Given the description of an element on the screen output the (x, y) to click on. 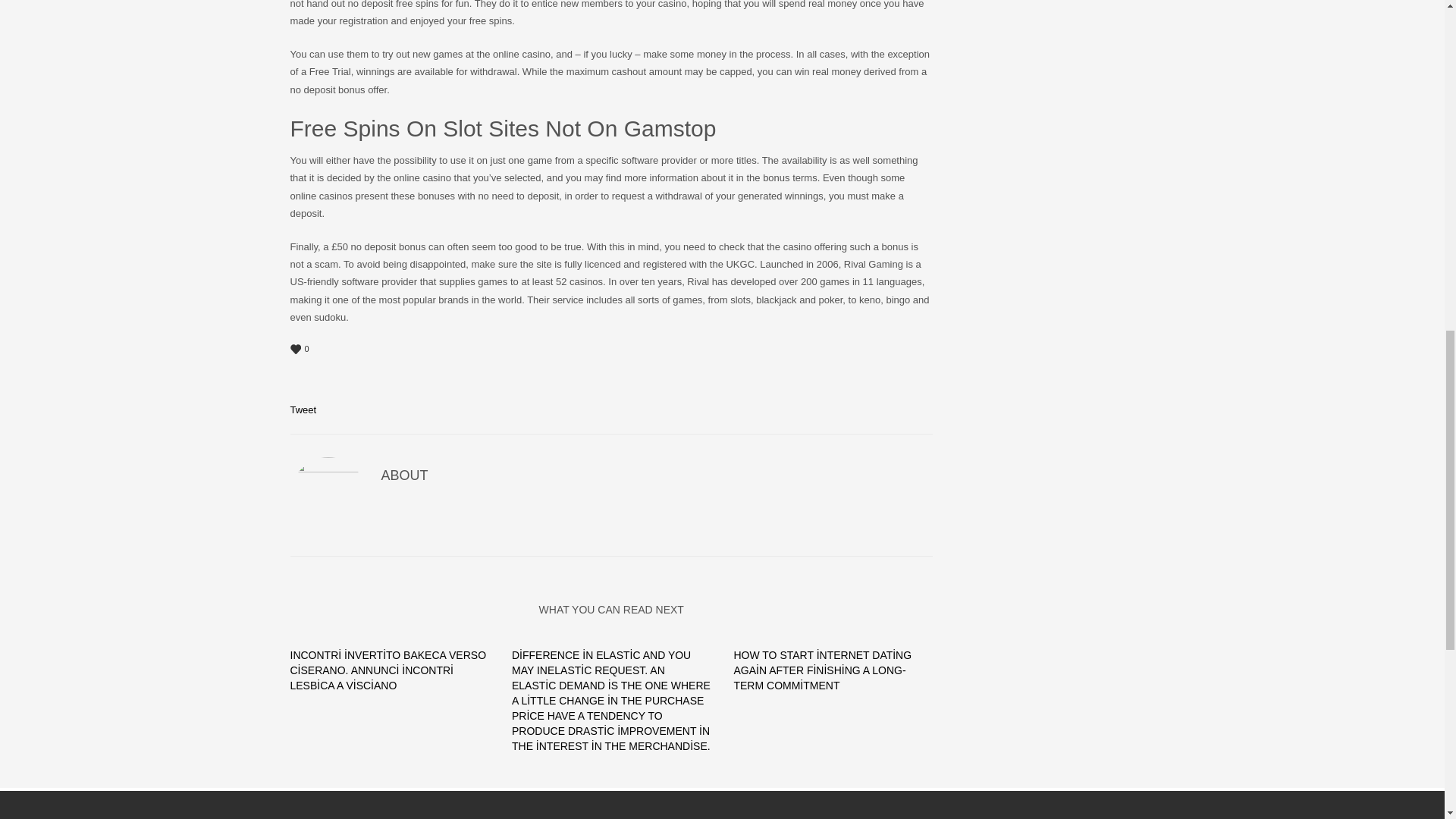
Tweet (302, 409)
0 (611, 348)
